Given the description of an element on the screen output the (x, y) to click on. 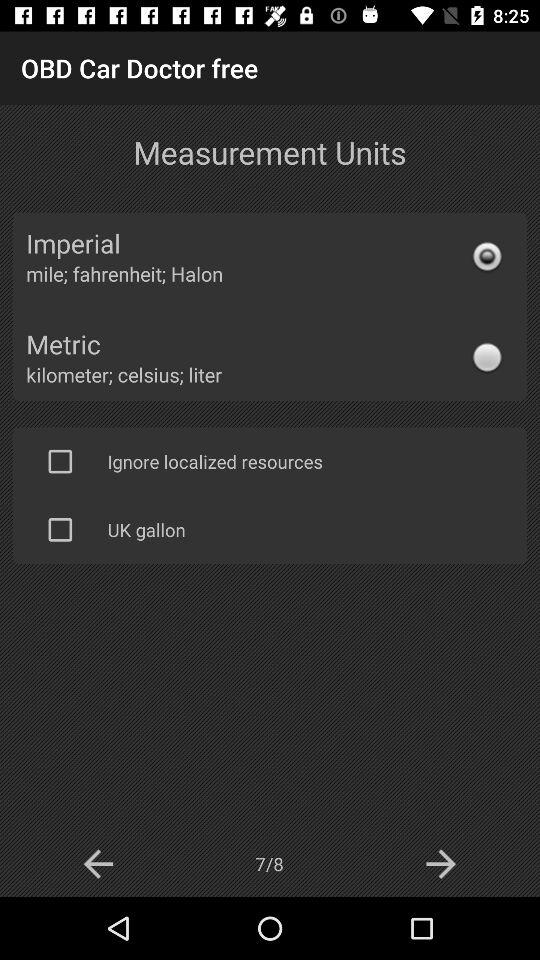
check box change to ul gallon (60, 529)
